Given the description of an element on the screen output the (x, y) to click on. 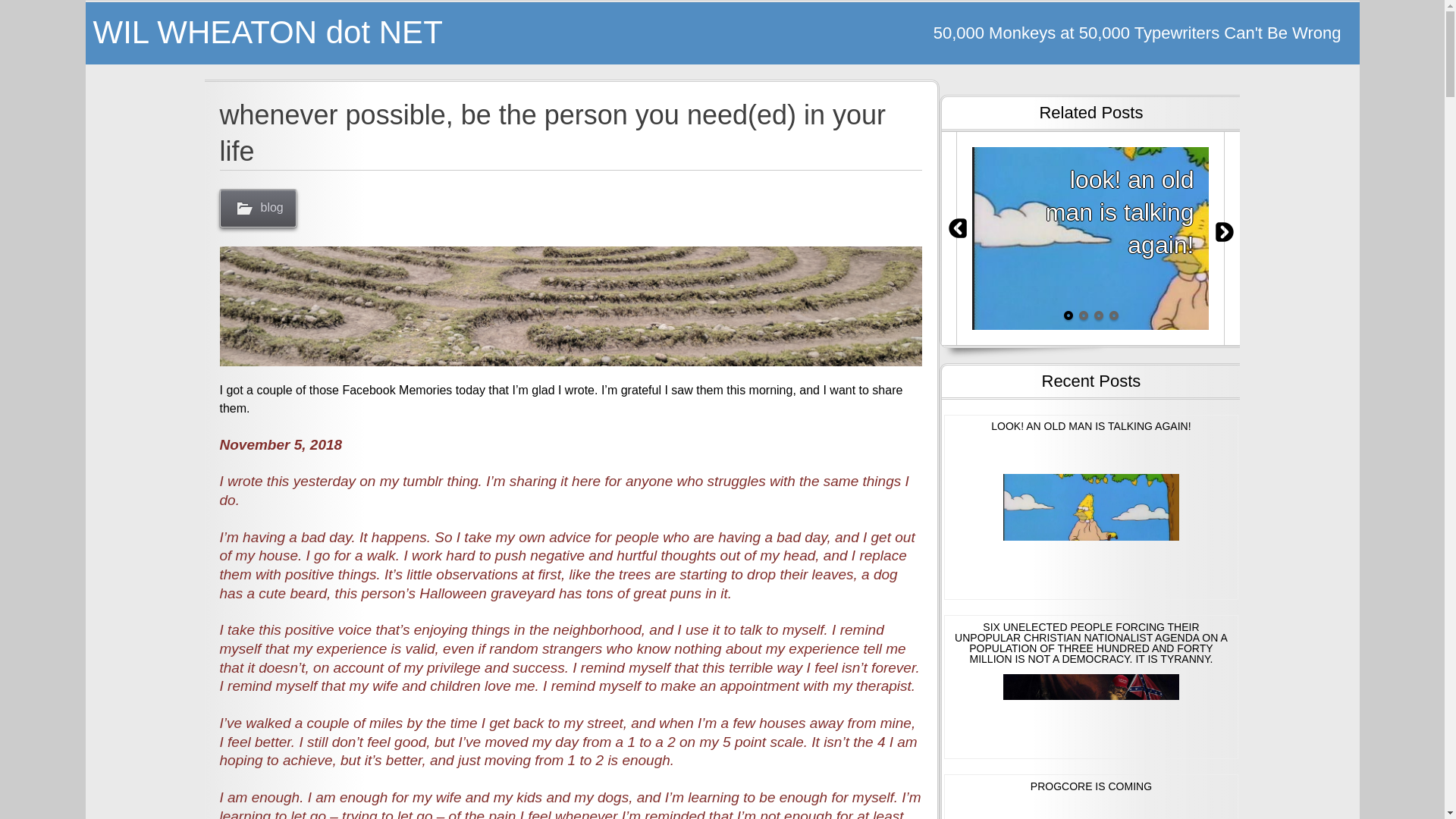
LOOK! AN OLD MAN IS TALKING AGAIN! (1090, 506)
WIL WHEATON dot NET (403, 32)
blog (258, 208)
Search (38, 13)
PROGCORE IS COMING (1090, 796)
look! an old man is talking again! (1090, 238)
